Given the description of an element on the screen output the (x, y) to click on. 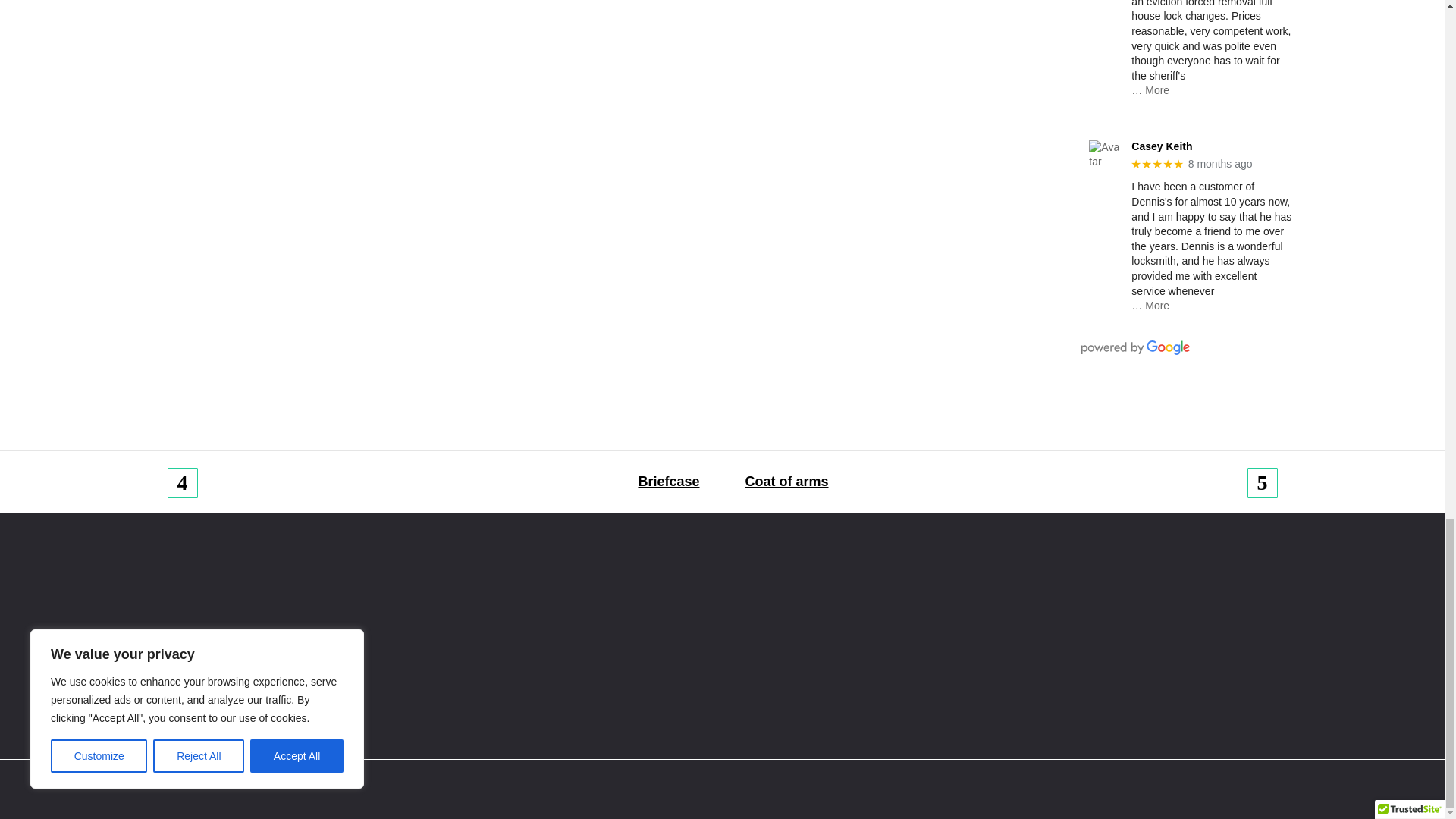
Powered by Google (1135, 347)
